Given the description of an element on the screen output the (x, y) to click on. 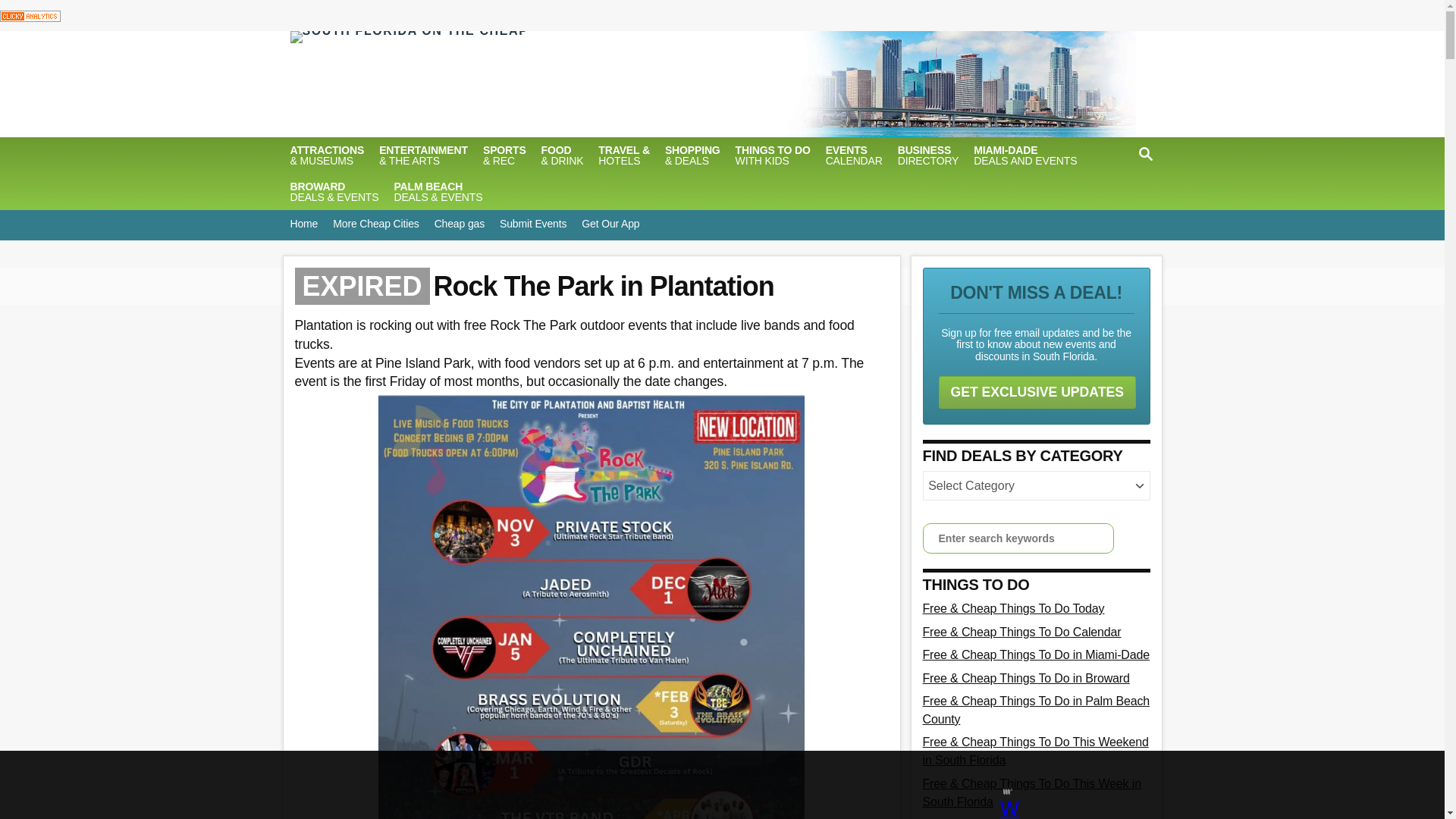
Search for: (1017, 538)
Web Analytics (30, 14)
South Florida on the Cheap (619, 84)
